Given the description of an element on the screen output the (x, y) to click on. 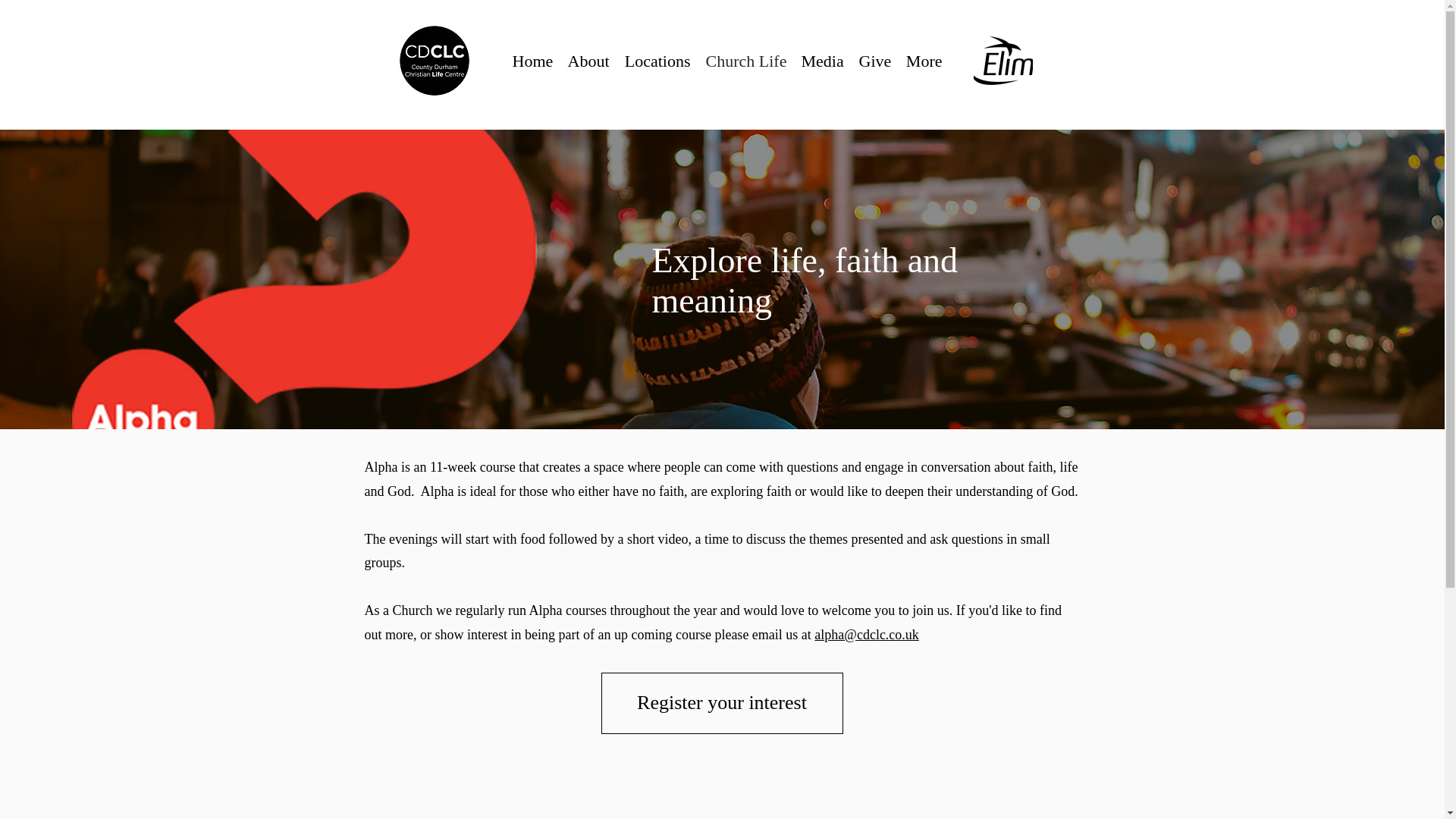
Register your interest (721, 702)
Locations (656, 60)
Home (532, 60)
Give (873, 60)
Church Life (745, 60)
Media (821, 60)
About (586, 60)
